Given the description of an element on the screen output the (x, y) to click on. 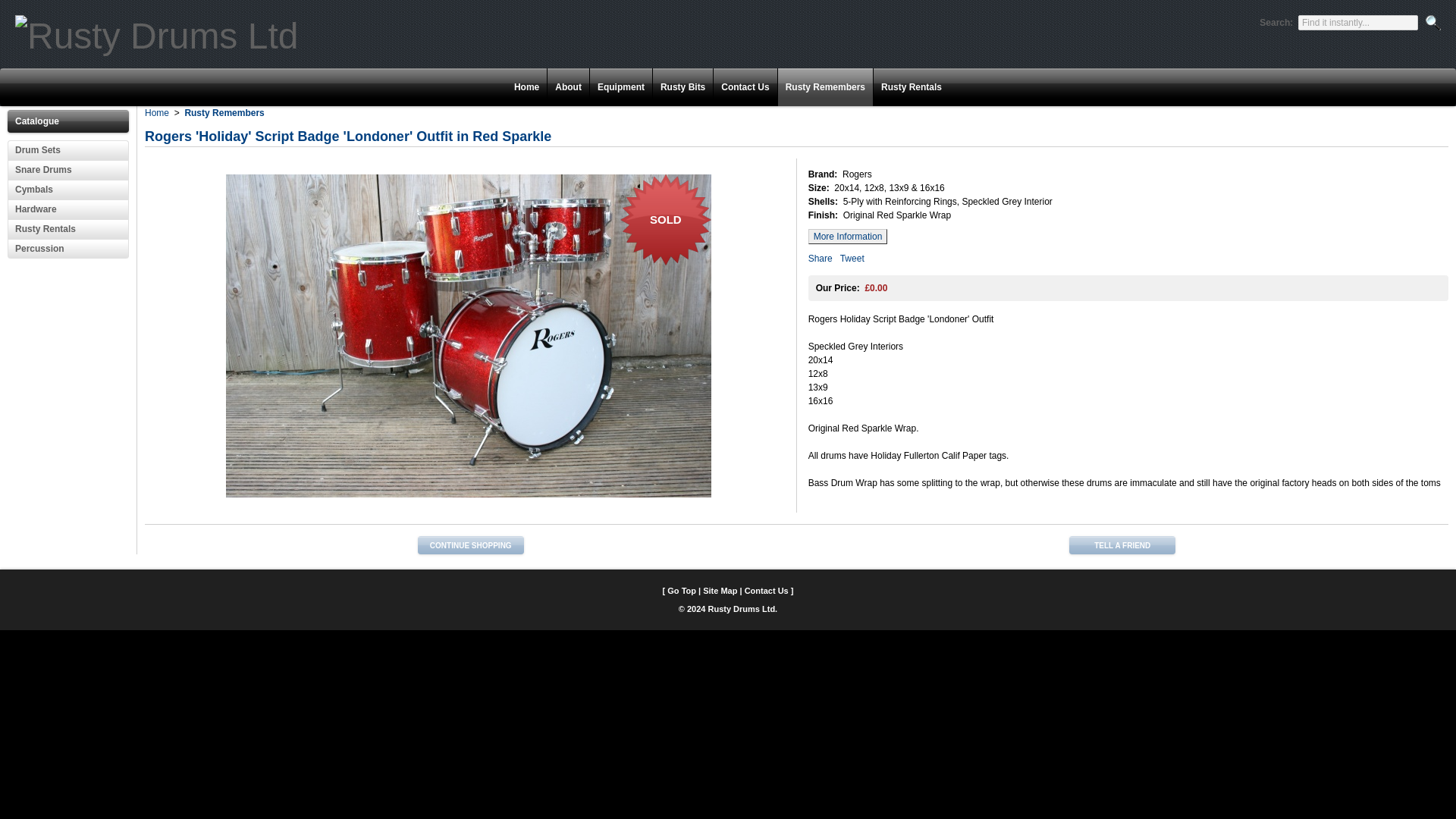
Drum Sets (68, 149)
Percussion (68, 248)
Share (820, 258)
Cymbals (68, 189)
About (567, 86)
Go Top (680, 590)
Rusty Rentals (68, 229)
Contact Us (766, 590)
Home (525, 86)
More Information (848, 236)
Go (1433, 22)
Site Map (719, 590)
Home (156, 112)
Rusty Remembers (223, 112)
Equipment (620, 86)
